Given the description of an element on the screen output the (x, y) to click on. 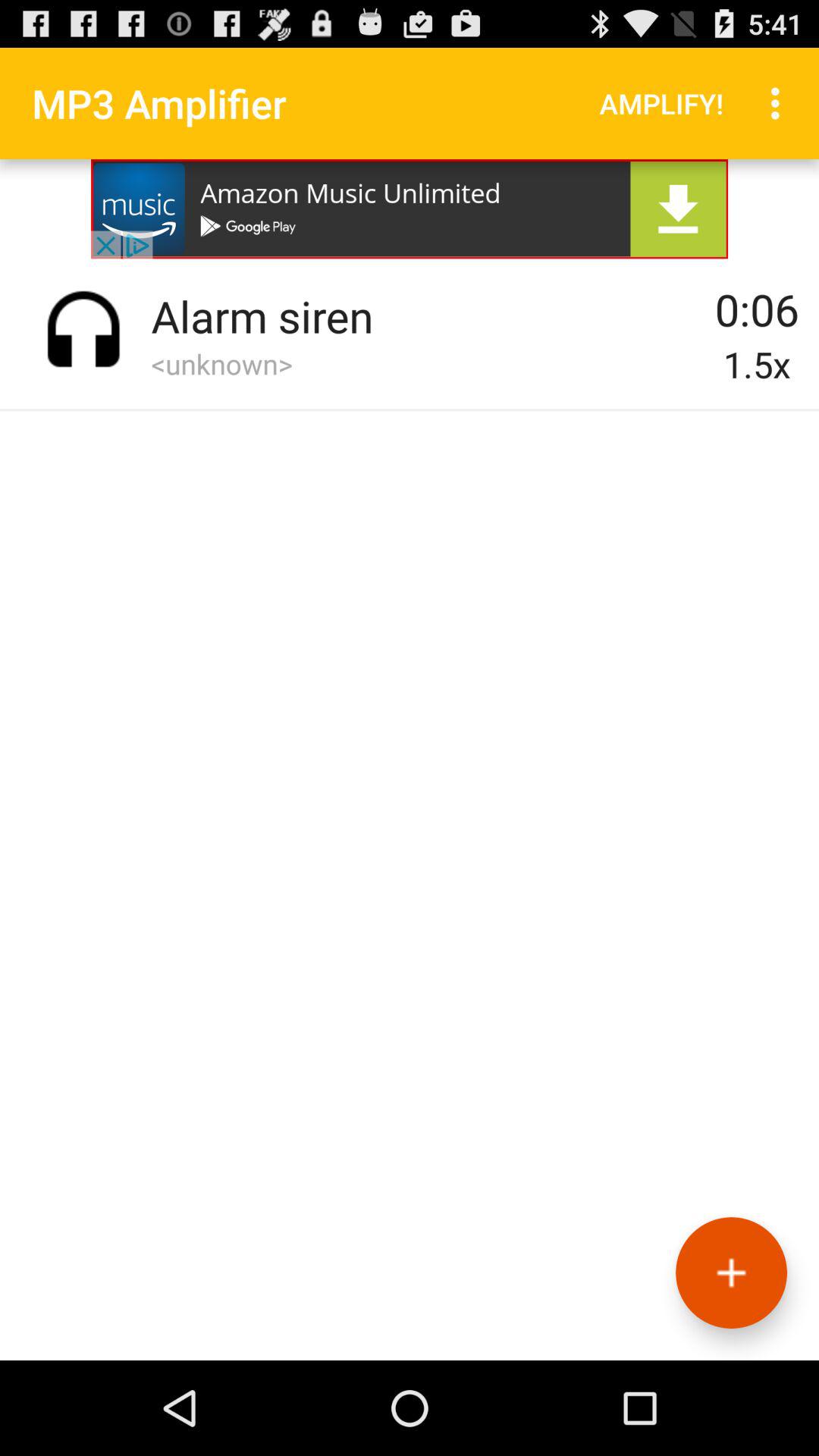
add another alarm (731, 1272)
